Given the description of an element on the screen output the (x, y) to click on. 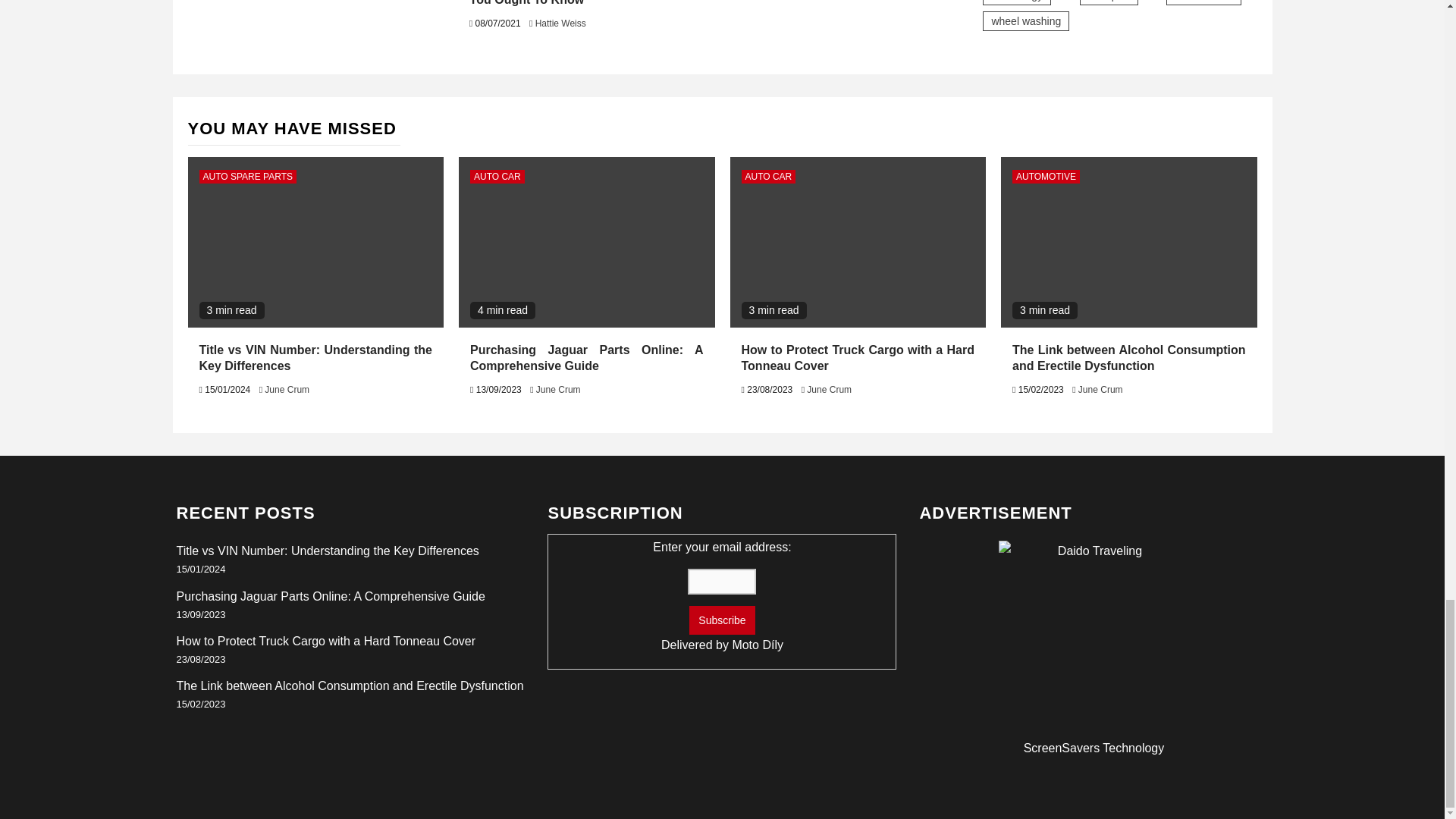
Subscribe (721, 620)
